Given the description of an element on the screen output the (x, y) to click on. 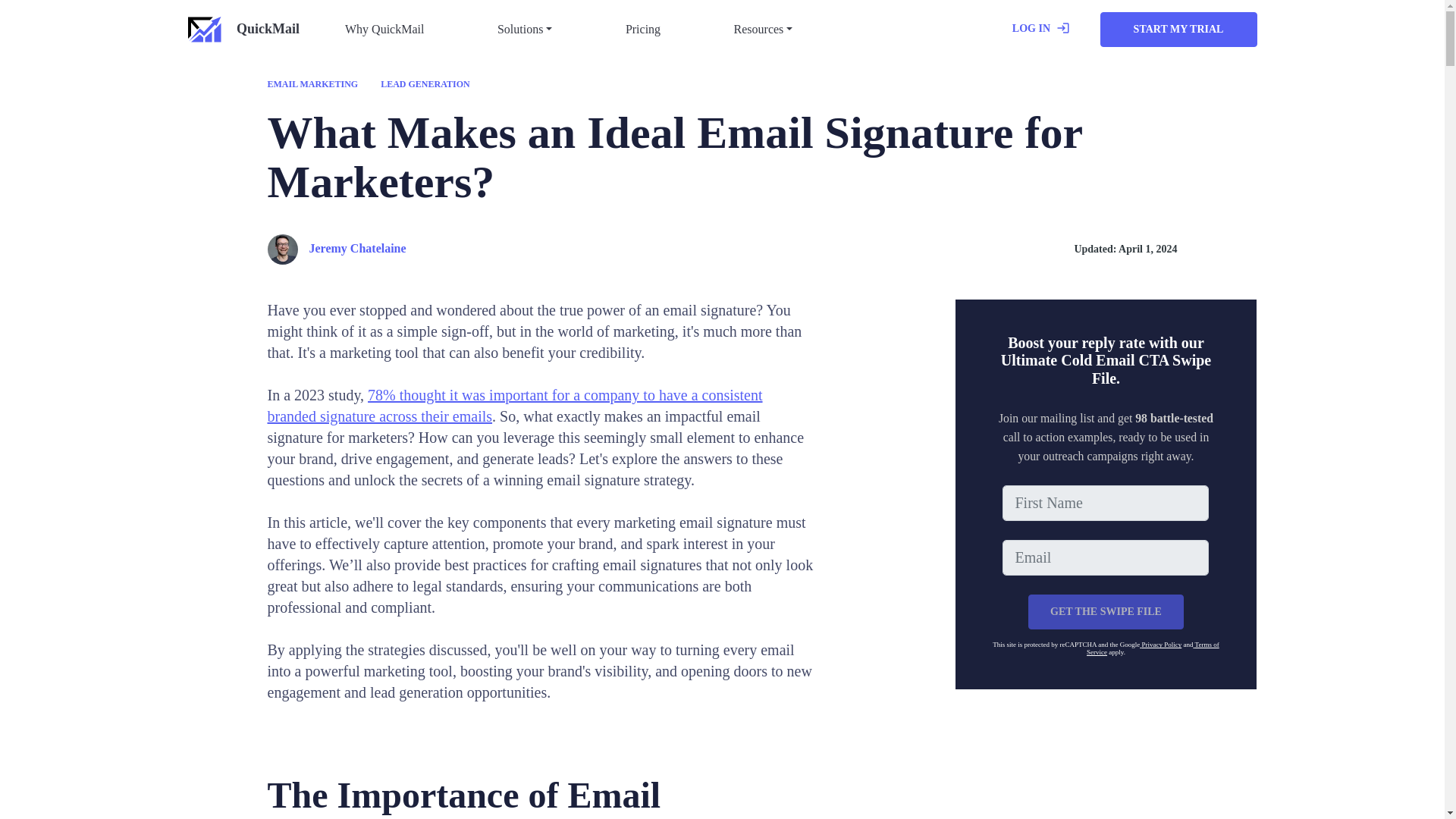
Get the Swipe File (1105, 611)
QuickMail (243, 29)
LOG IN (1040, 29)
Solutions (524, 30)
Pricing (642, 30)
Why QuickMail (383, 30)
Resources (763, 30)
Resources (763, 30)
Jeremy Chatelaine (336, 249)
QuickMail (243, 29)
